Given the description of an element on the screen output the (x, y) to click on. 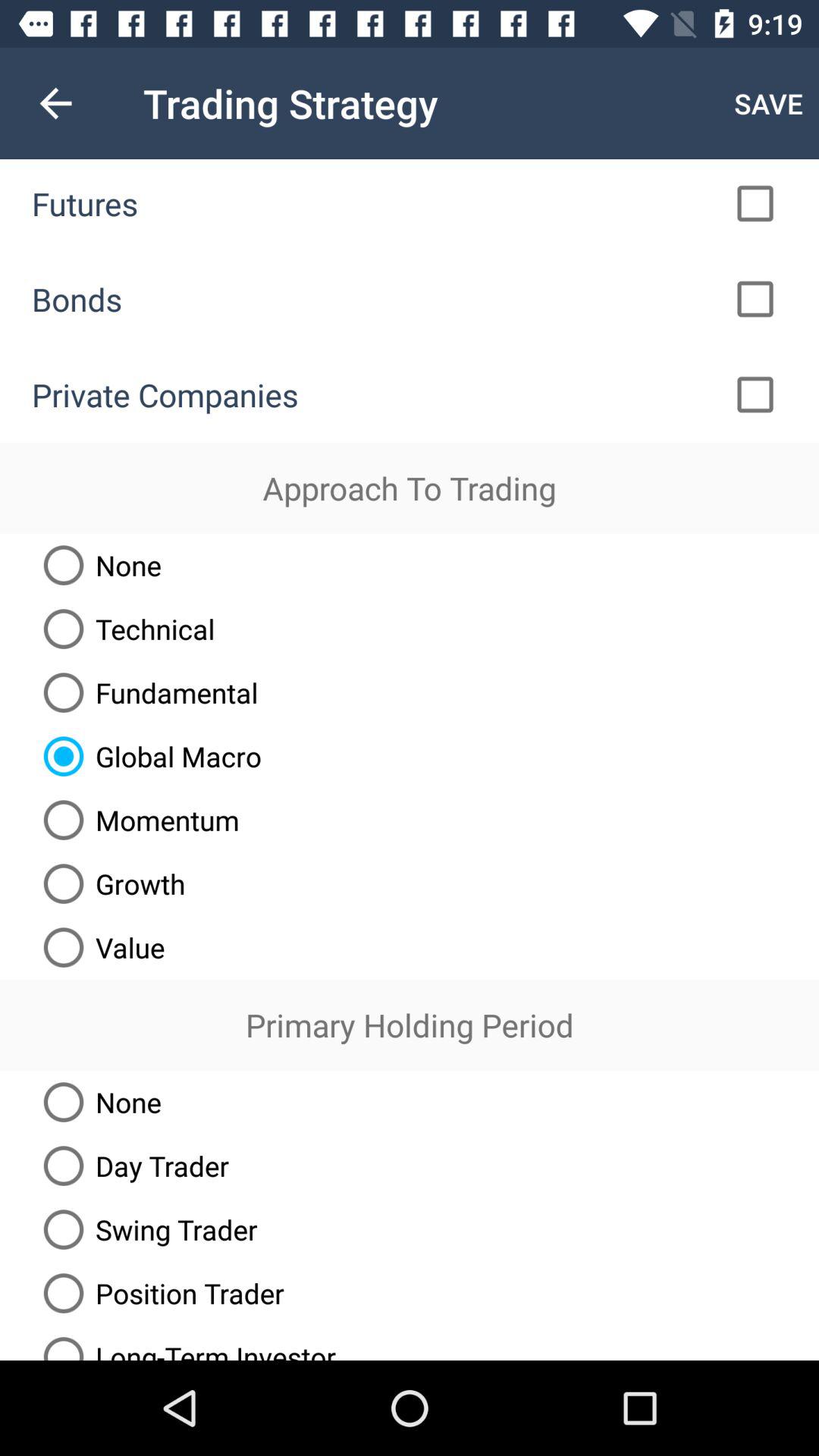
tap icon below fundamental radio button (146, 756)
